Given the description of an element on the screen output the (x, y) to click on. 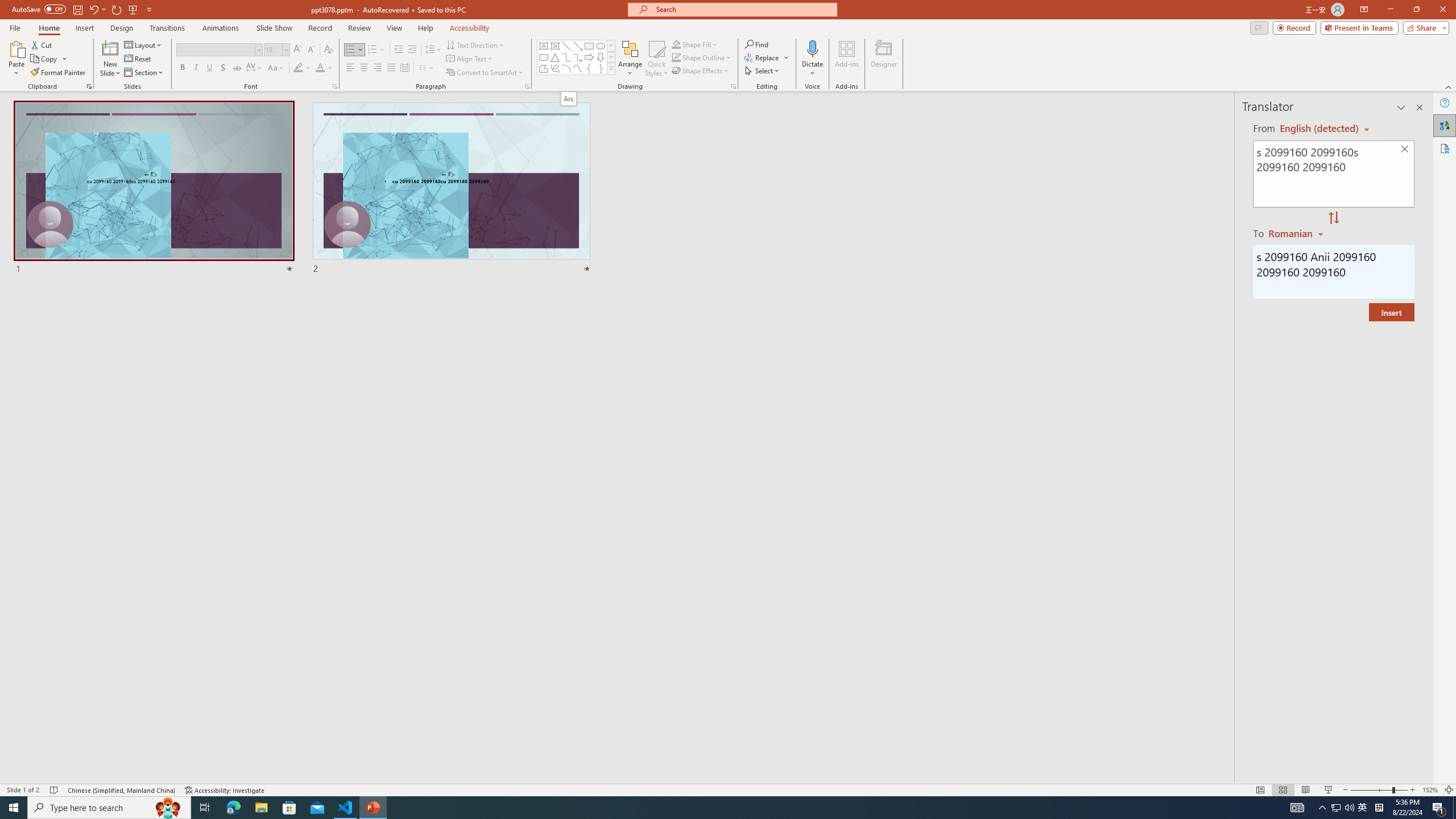
Distributed (404, 67)
Oval (600, 45)
Justify (390, 67)
Swap "from" and "to" languages. (1333, 218)
Paragraph... (526, 85)
Shape Outline Green, Accent 1 (675, 56)
Decrease Indent (398, 49)
Shape Fill Dark Green, Accent 2 (675, 44)
